Given the description of an element on the screen output the (x, y) to click on. 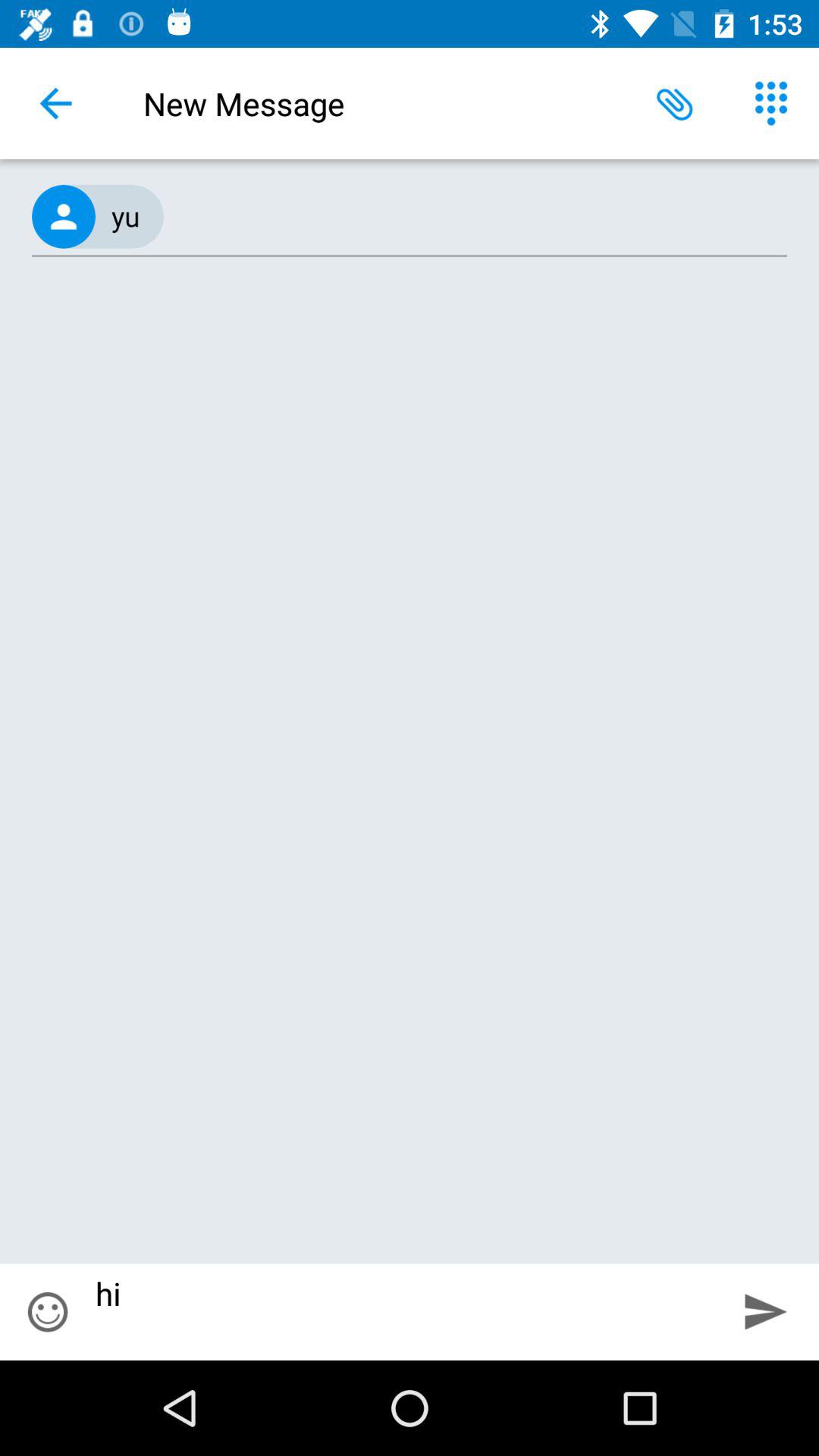
select the icon to the right of the new message icon (675, 103)
